Given the description of an element on the screen output the (x, y) to click on. 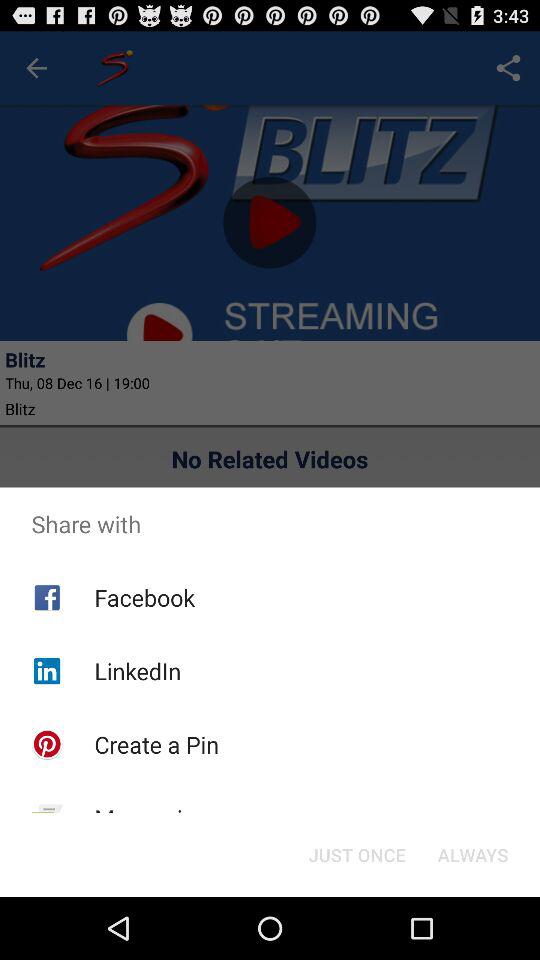
tap the icon next to just once (151, 817)
